Given the description of an element on the screen output the (x, y) to click on. 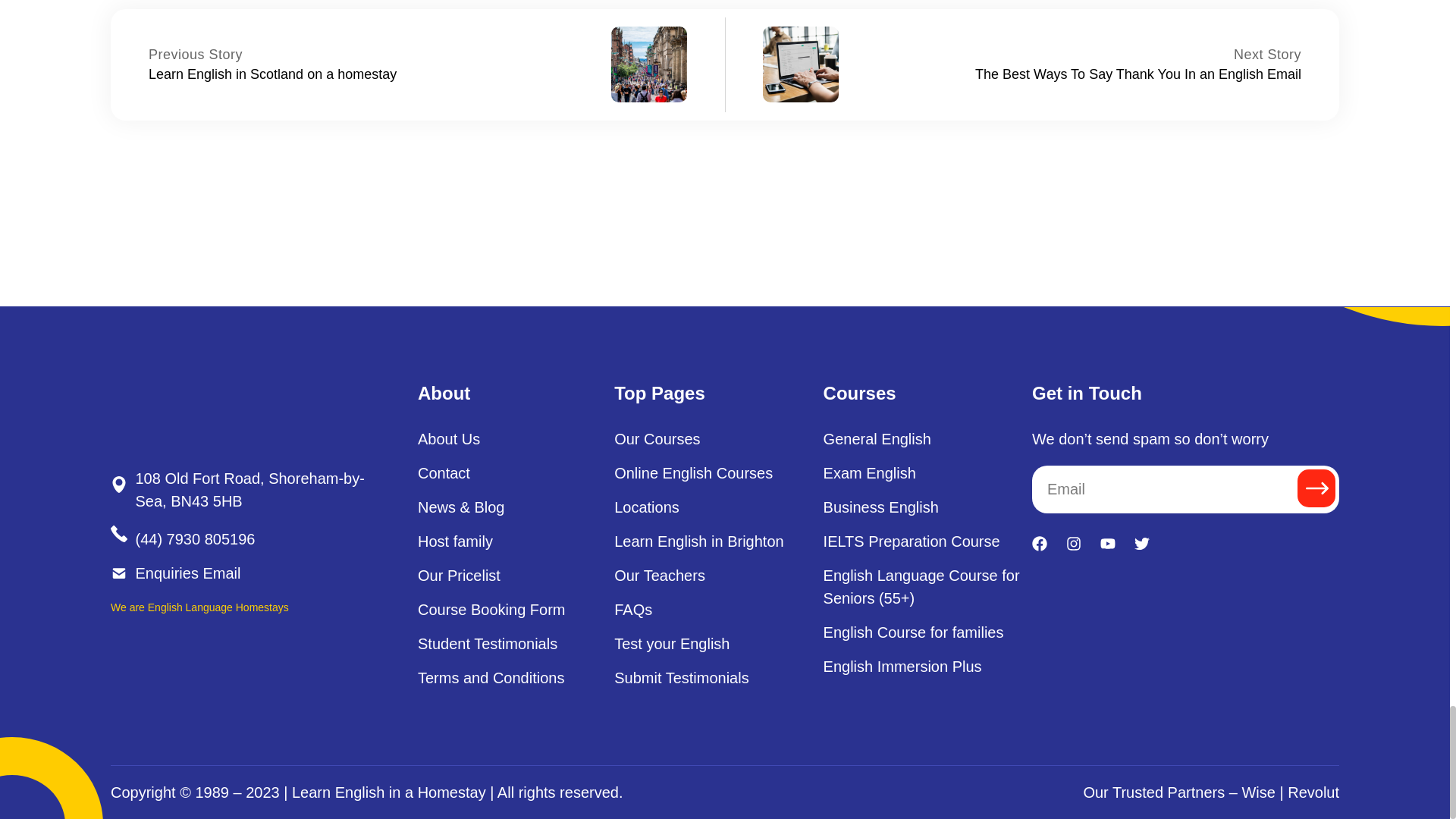
The Best Ways To Say Thank You In an English Email (1138, 73)
Learn English in Scotland on a homestay (195, 54)
The Best Ways To Say Thank You In an English Email (1267, 54)
Learn English in Scotland on a homestay (272, 73)
